Given the description of an element on the screen output the (x, y) to click on. 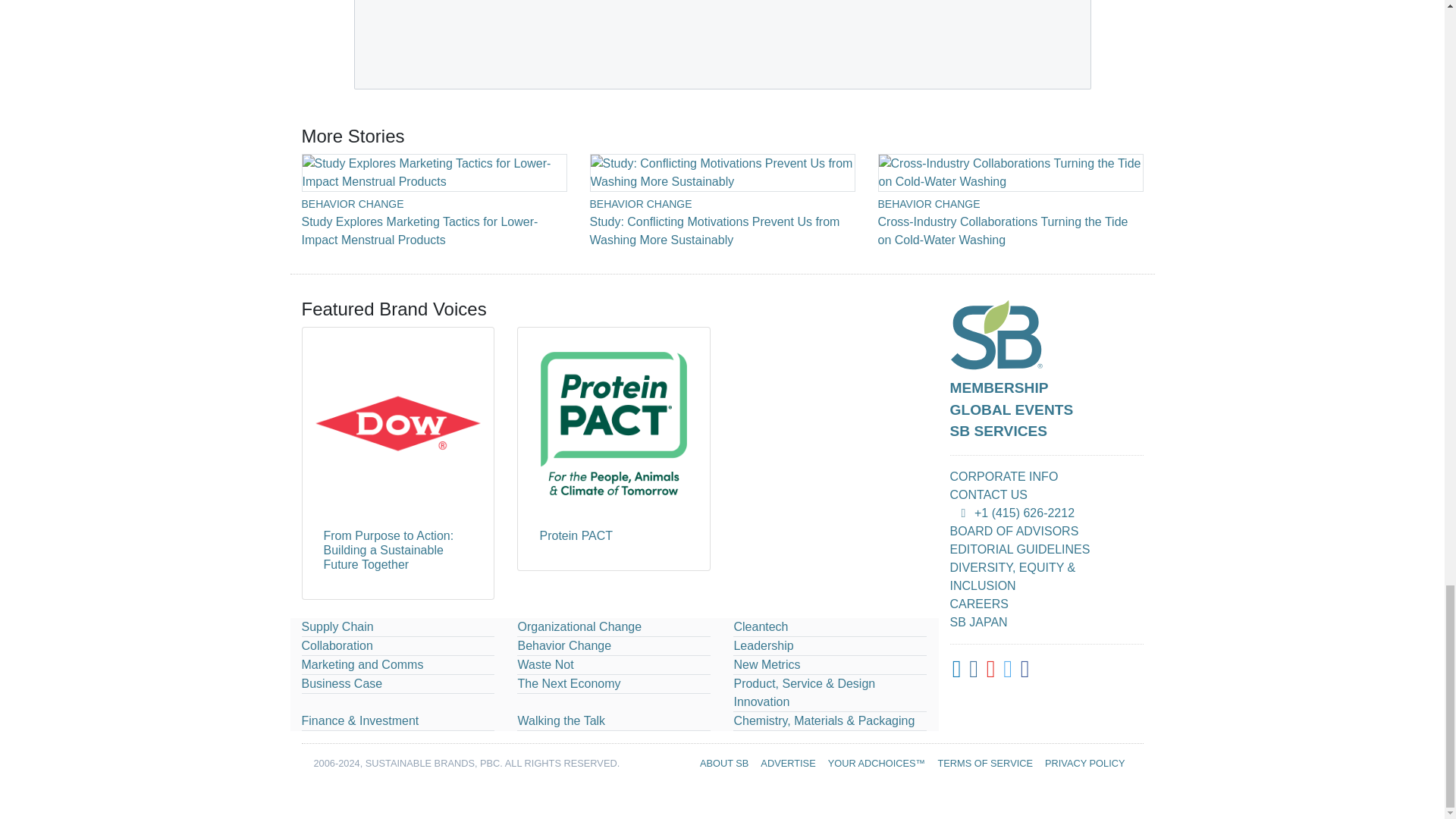
Telephone (963, 512)
